Given the description of an element on the screen output the (x, y) to click on. 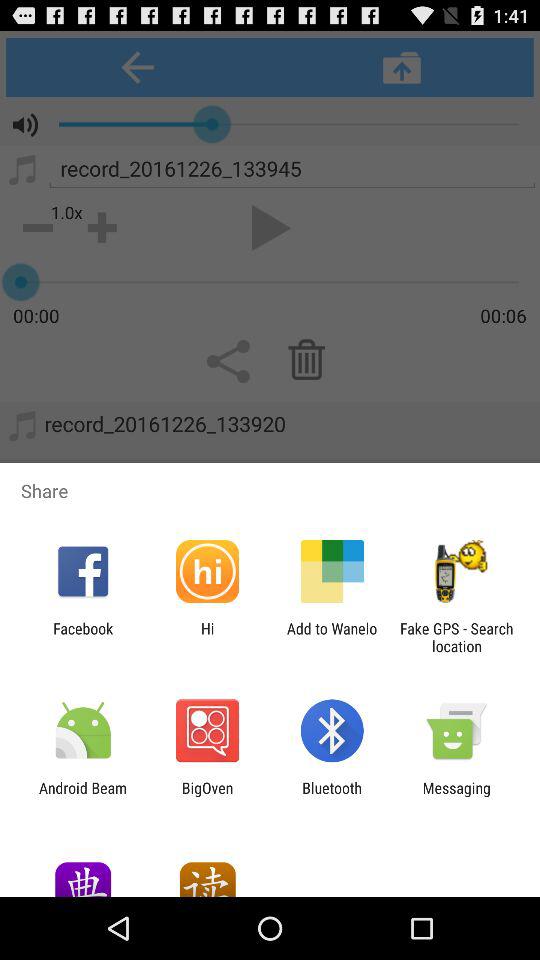
press item next to the hi icon (83, 637)
